Given the description of an element on the screen output the (x, y) to click on. 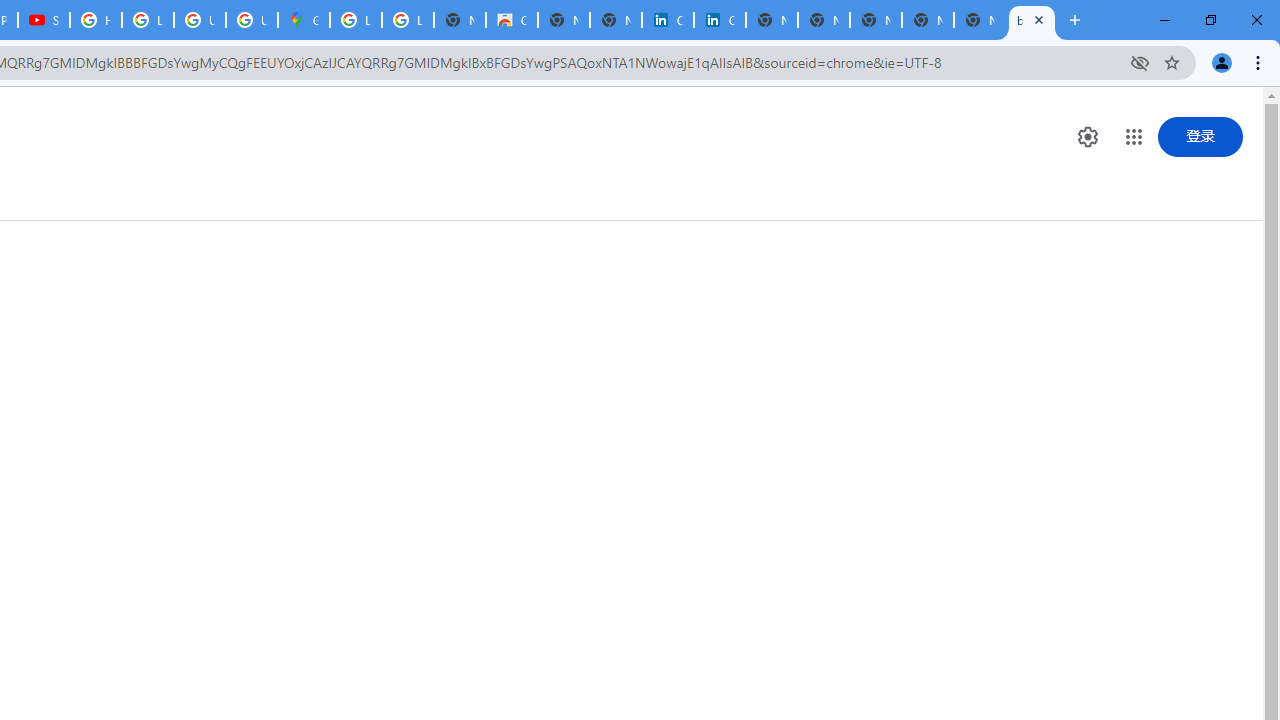
Cookie Policy | LinkedIn (667, 20)
New Tab (979, 20)
Chrome Web Store (511, 20)
Cookie Policy | LinkedIn (719, 20)
